Given the description of an element on the screen output the (x, y) to click on. 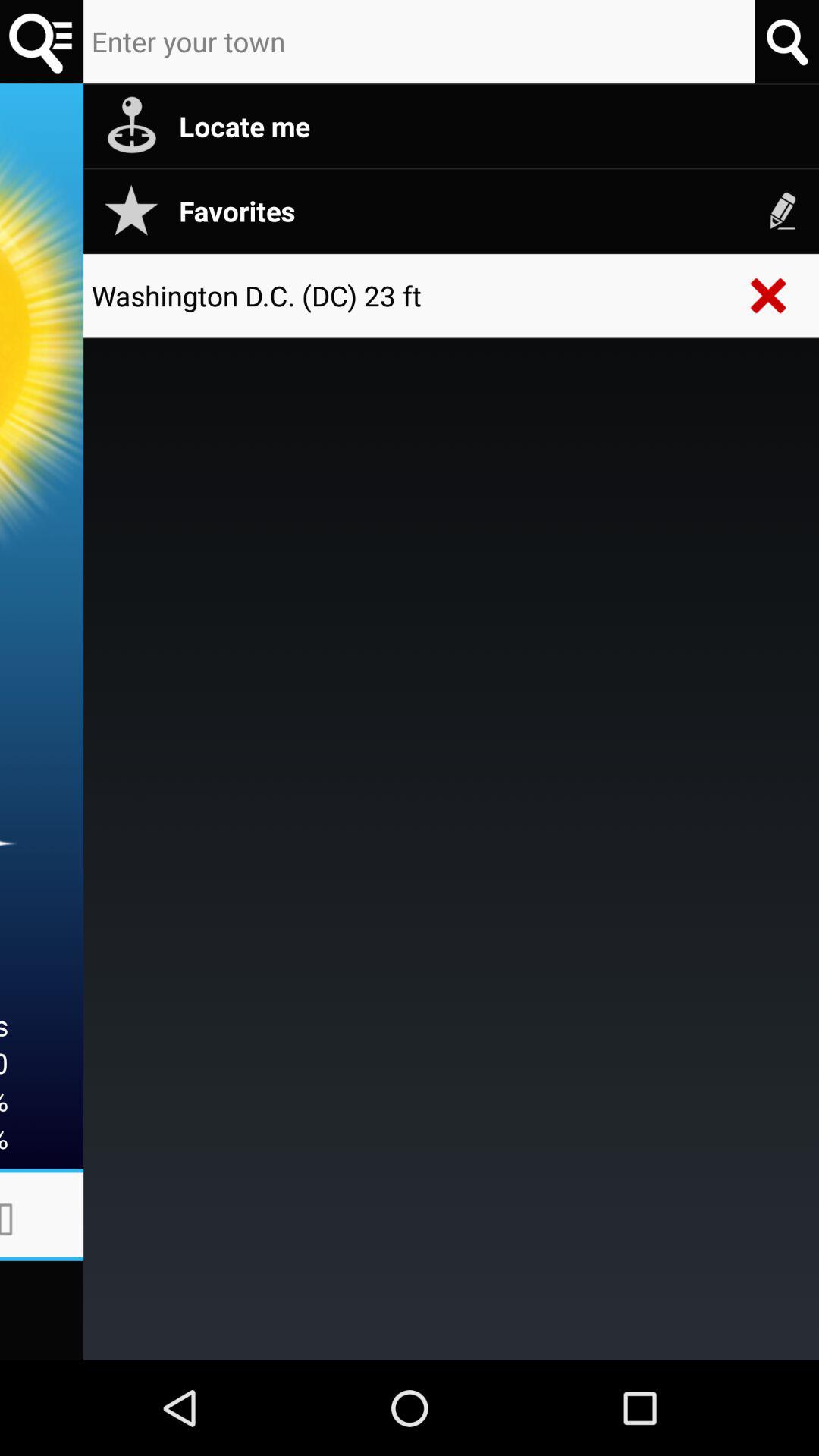
turn off item to the right of the washington d c icon (768, 295)
